Given the description of an element on the screen output the (x, y) to click on. 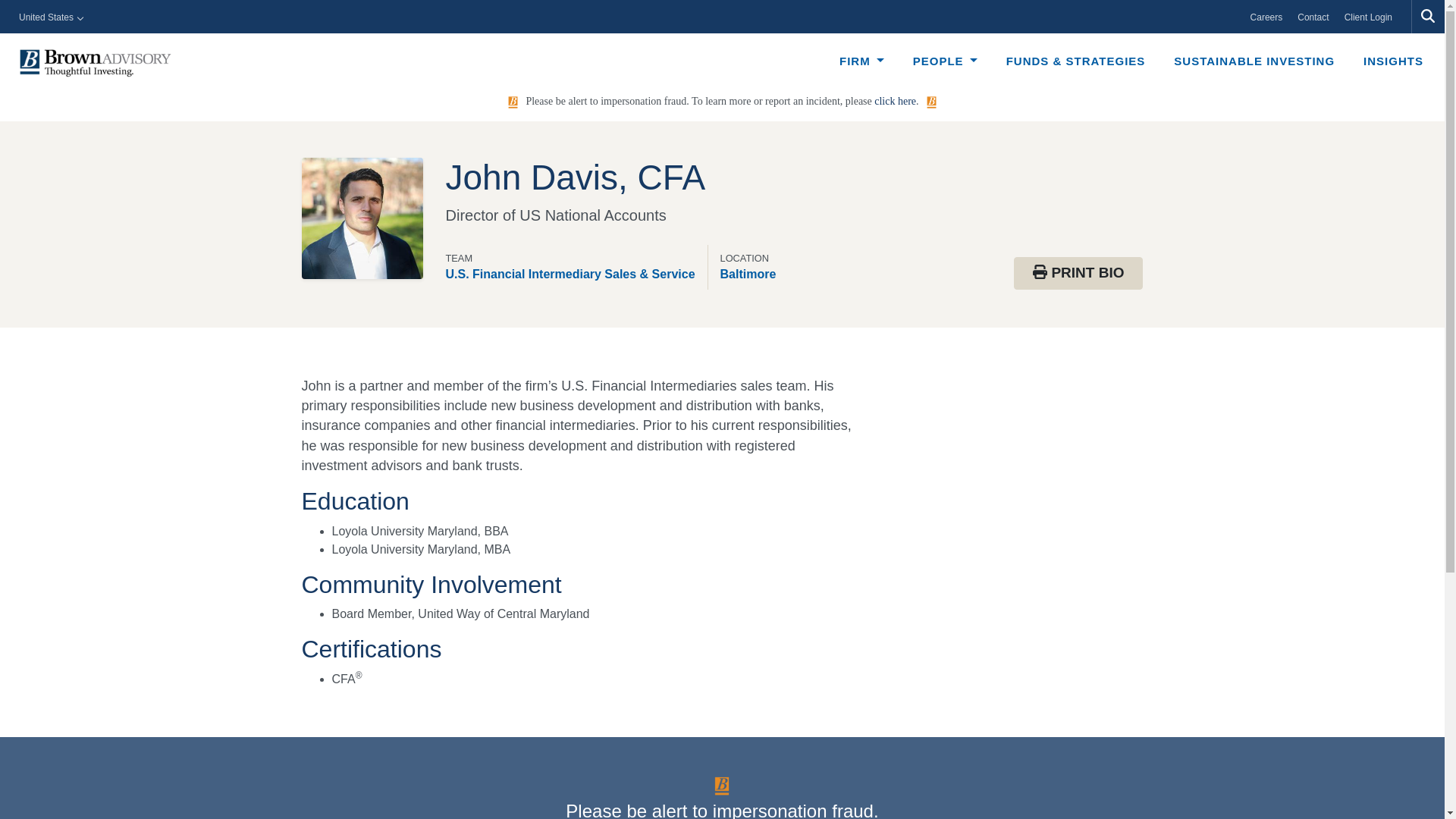
Careers (1266, 16)
Client Login (1367, 16)
Contact (1313, 16)
PEOPLE (944, 59)
INSIGHTS (1393, 59)
SUSTAINABLE INVESTING (1254, 59)
United States (50, 16)
FIRM (861, 59)
Home (95, 63)
